Given the description of an element on the screen output the (x, y) to click on. 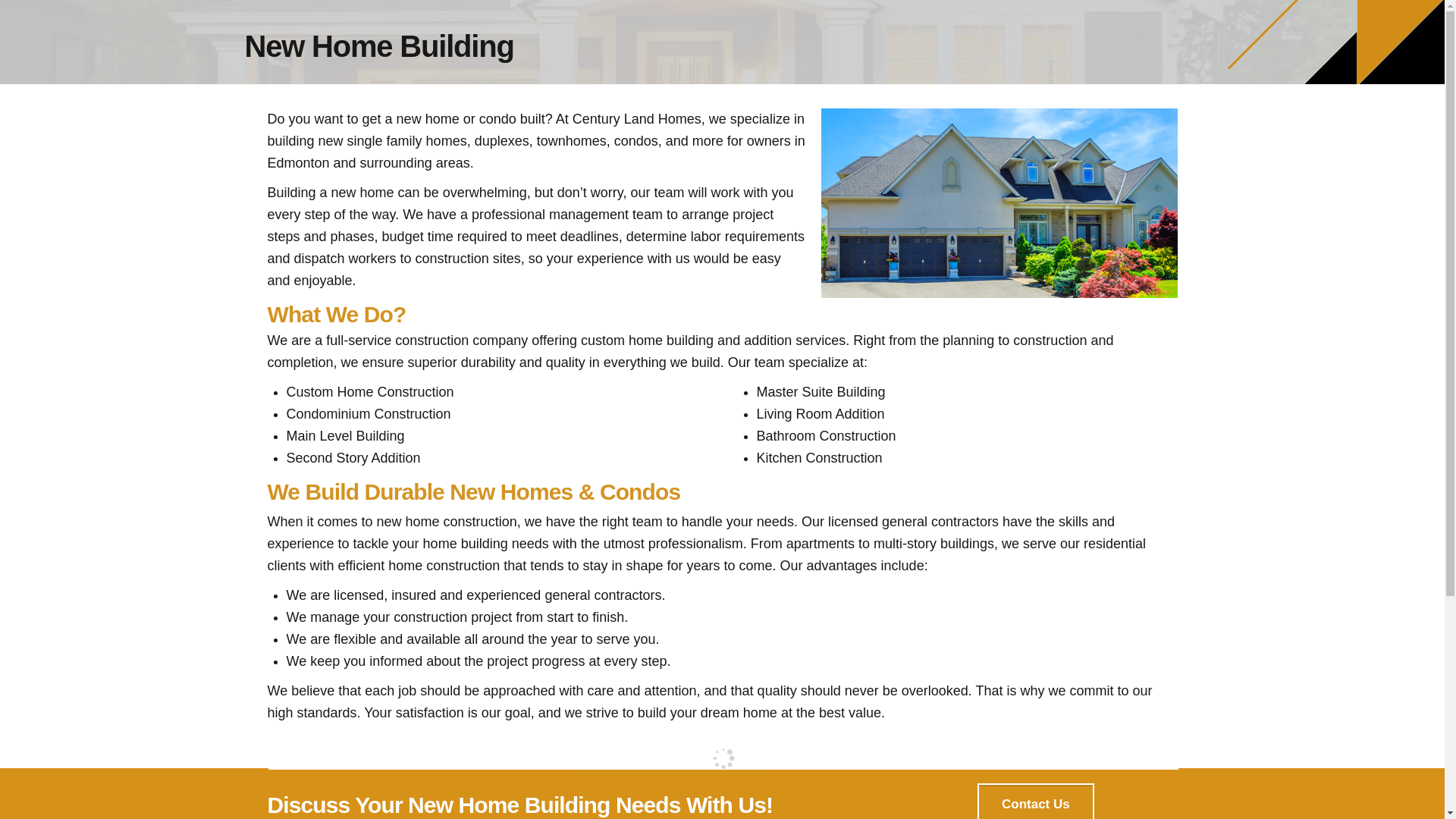
Contact Us (1034, 800)
Contact Us (1034, 800)
